Given the description of an element on the screen output the (x, y) to click on. 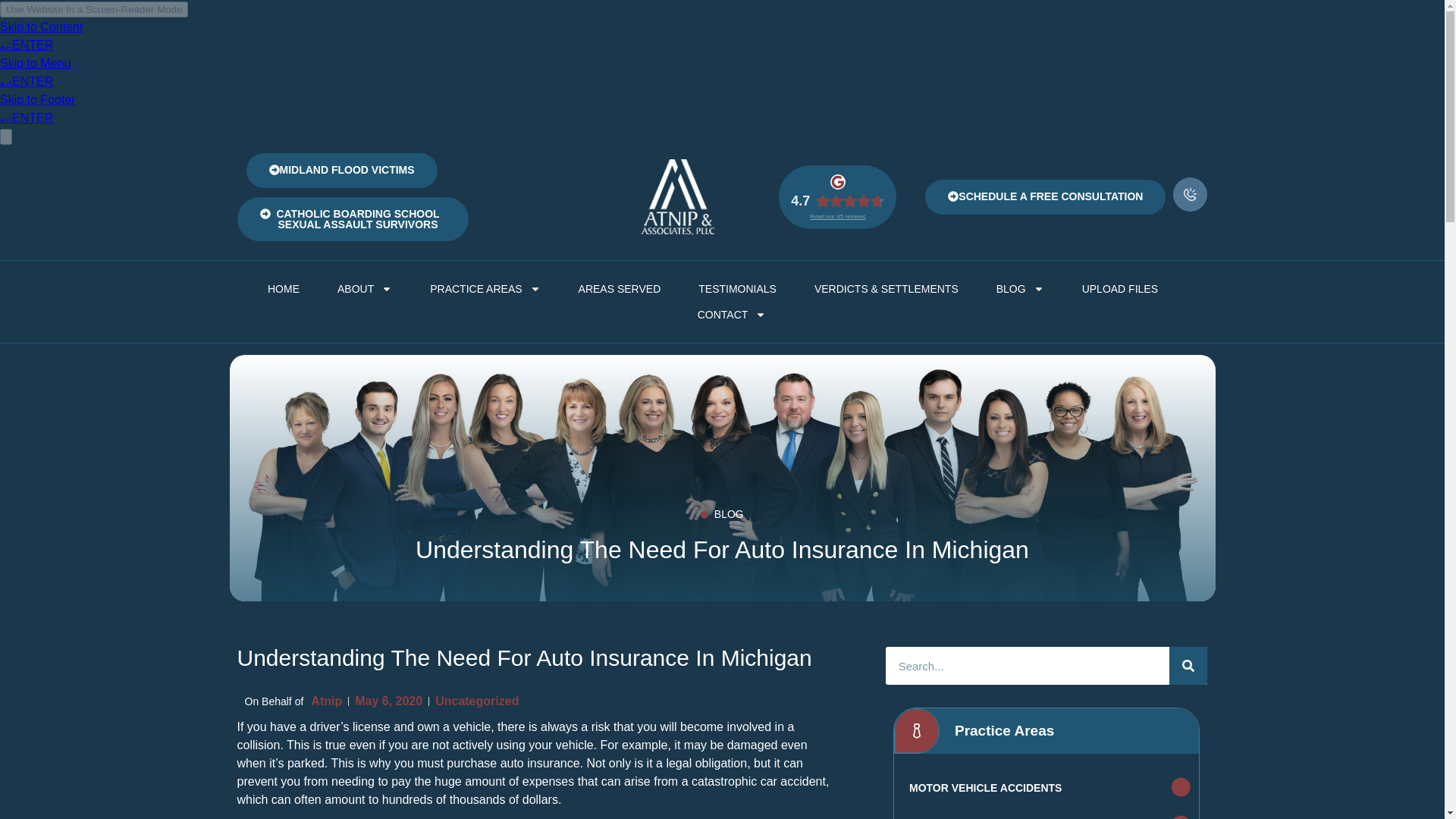
SCHEDULE A FREE CONSULTATION (1045, 196)
PRACTICE AREAS (484, 289)
CATHOLIC BOARDING SCHOOL SEXUAL ASSAULT SURVIVORS (351, 218)
HOME (283, 289)
ABOUT (364, 289)
MIDLAND FLOOD VICTIMS (341, 170)
